Given the description of an element on the screen output the (x, y) to click on. 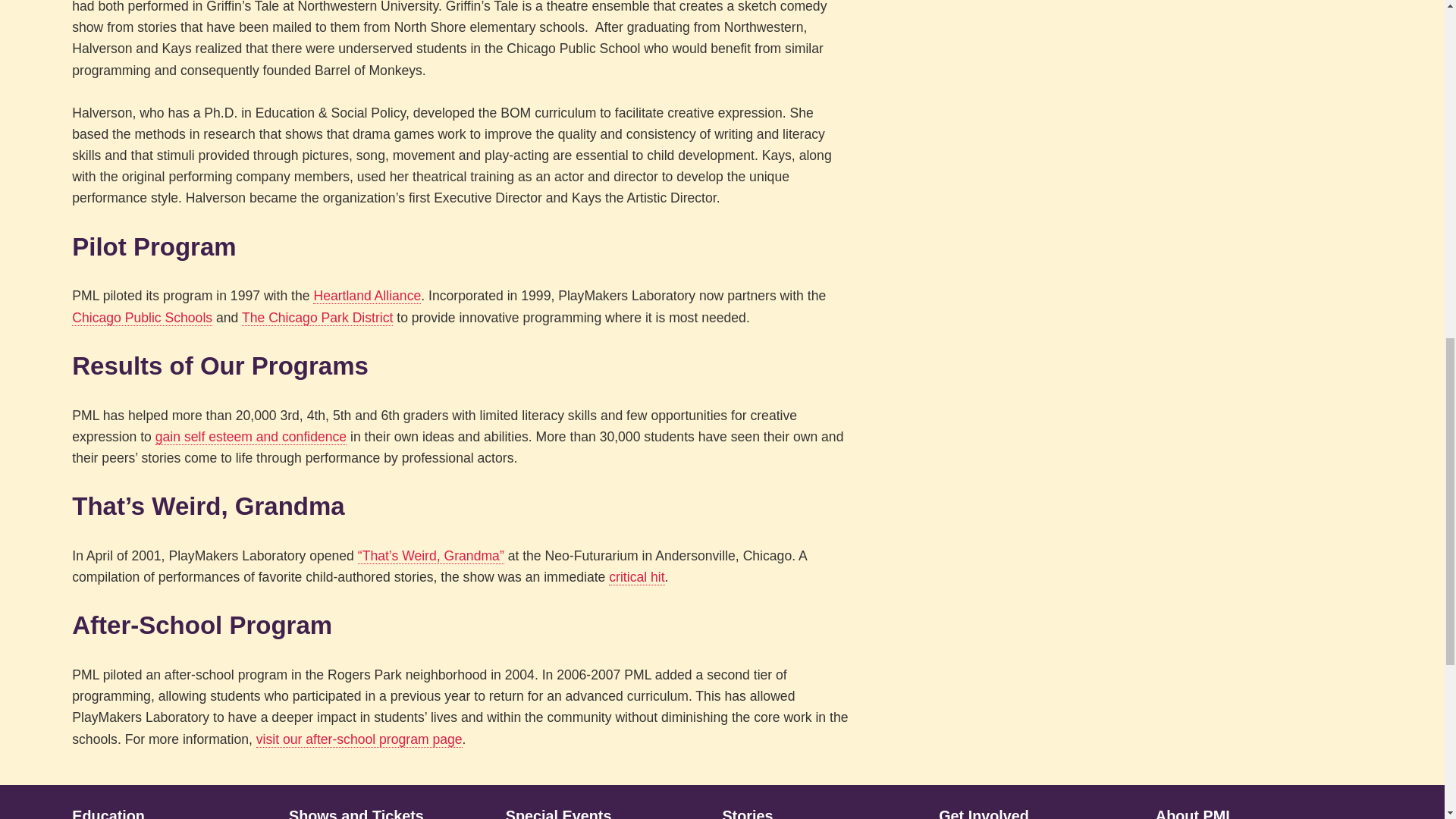
visit our after-school program page (359, 739)
Heartland Alliance (366, 295)
critical hit (635, 577)
gain self esteem and confidence (250, 437)
The Chicago Park District (317, 317)
Chicago Public Schools (141, 317)
